Given the description of an element on the screen output the (x, y) to click on. 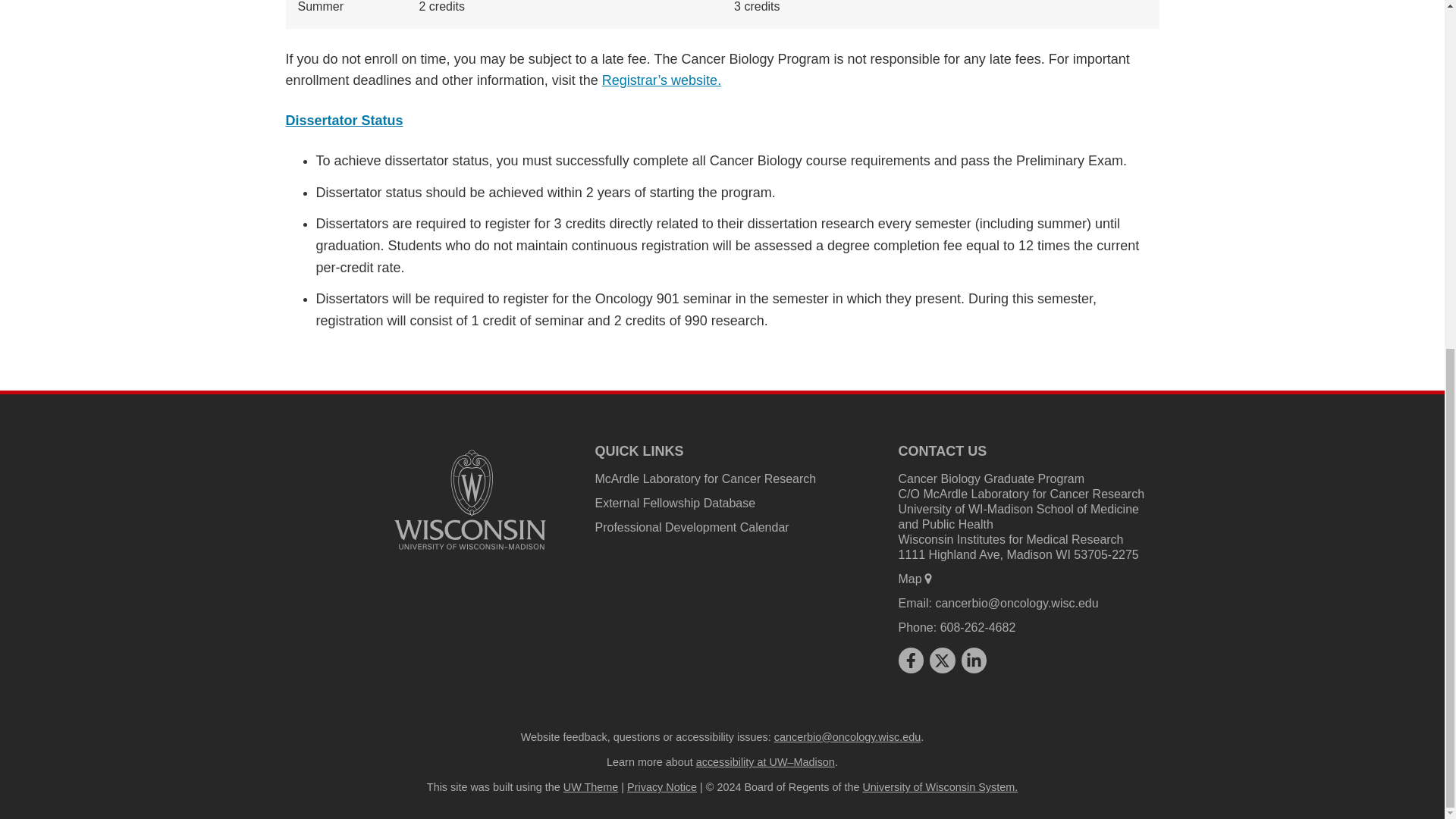
linkedin (973, 660)
facebook (910, 660)
x twitter (942, 660)
University logo that links to main university website (470, 499)
McArdle Laboratory for Cancer Research (704, 478)
Professional Development Calendar (691, 526)
608-262-4682 (978, 626)
External Fellowship Database (674, 502)
Dissertator Status (344, 120)
University logo that links to main university website (470, 552)
x twitter (941, 660)
linkedin (973, 660)
map marker (927, 578)
facebook (910, 660)
Map map marker (915, 578)
